Given the description of an element on the screen output the (x, y) to click on. 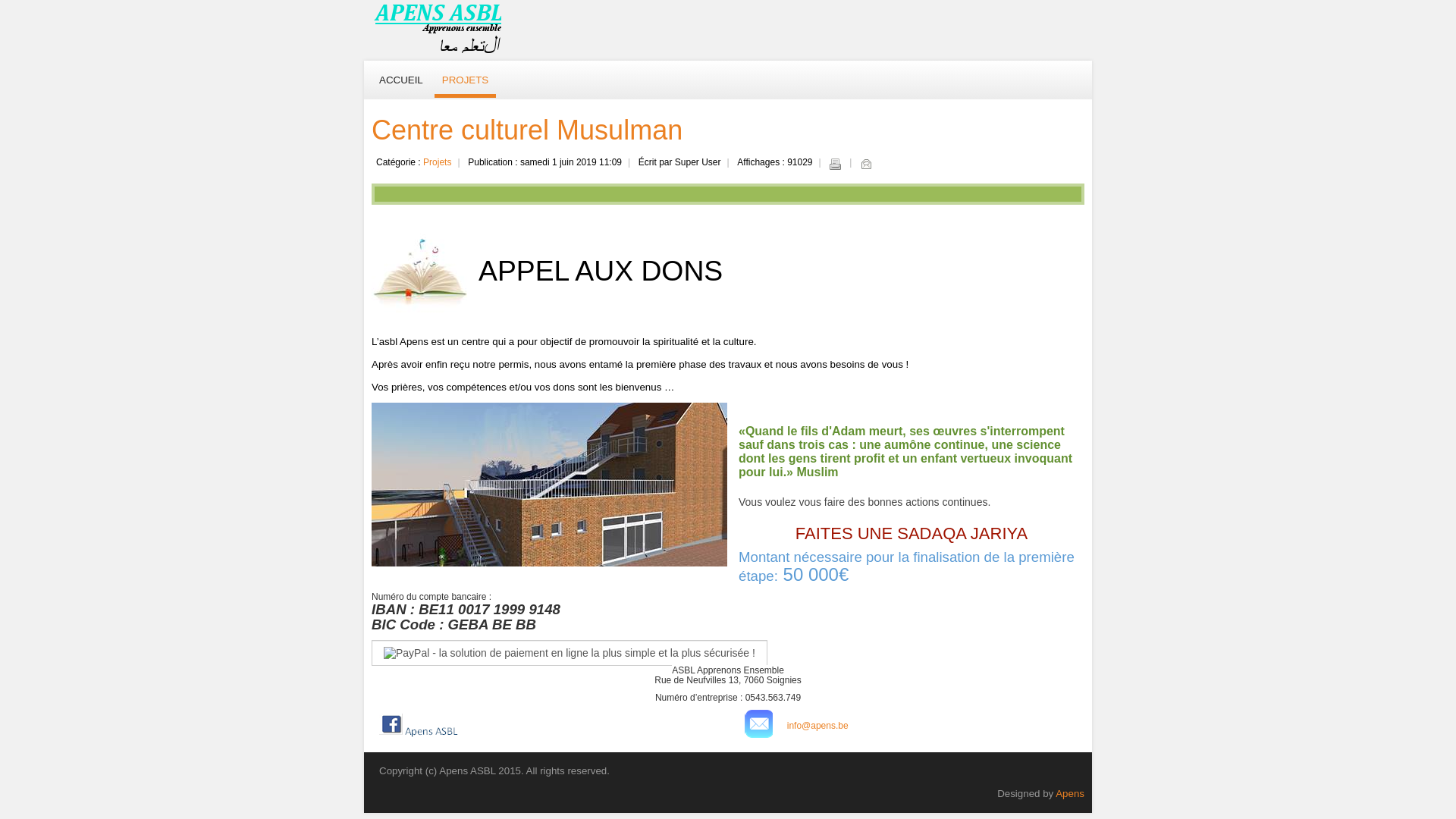
Apens Element type: text (1069, 793)
PROJETS Element type: text (464, 81)
Imprimer Element type: text (834, 163)
Projets Element type: text (437, 161)
ACCUEIL Element type: text (400, 80)
Centre culturel Musulman Element type: text (526, 129)
E-mail Element type: text (865, 163)
info@apens.be Element type: text (817, 725)
